Given the description of an element on the screen output the (x, y) to click on. 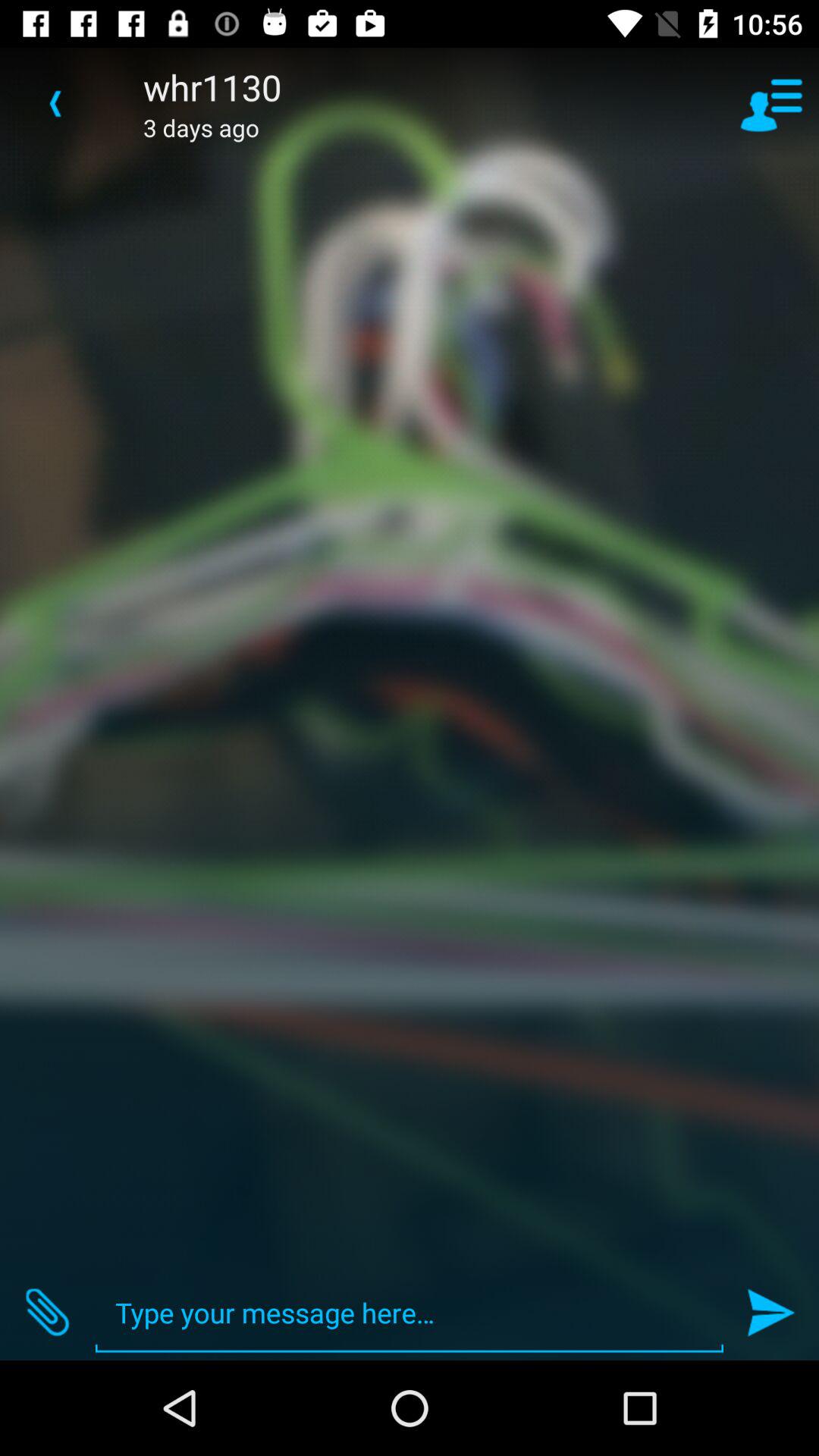
turn on icon next to the whr1130 item (55, 103)
